Given the description of an element on the screen output the (x, y) to click on. 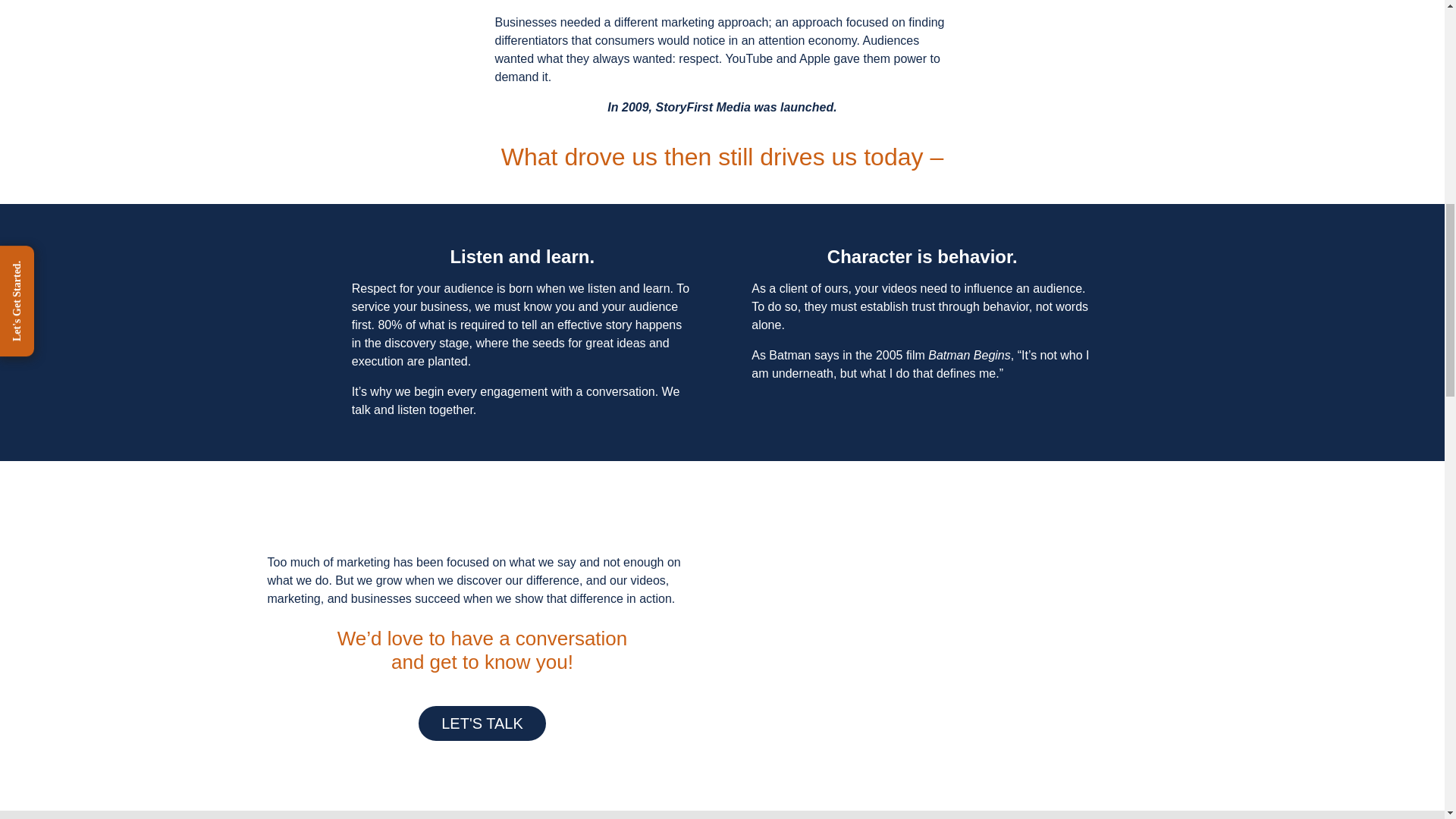
LET'S TALK (481, 723)
